Given the description of an element on the screen output the (x, y) to click on. 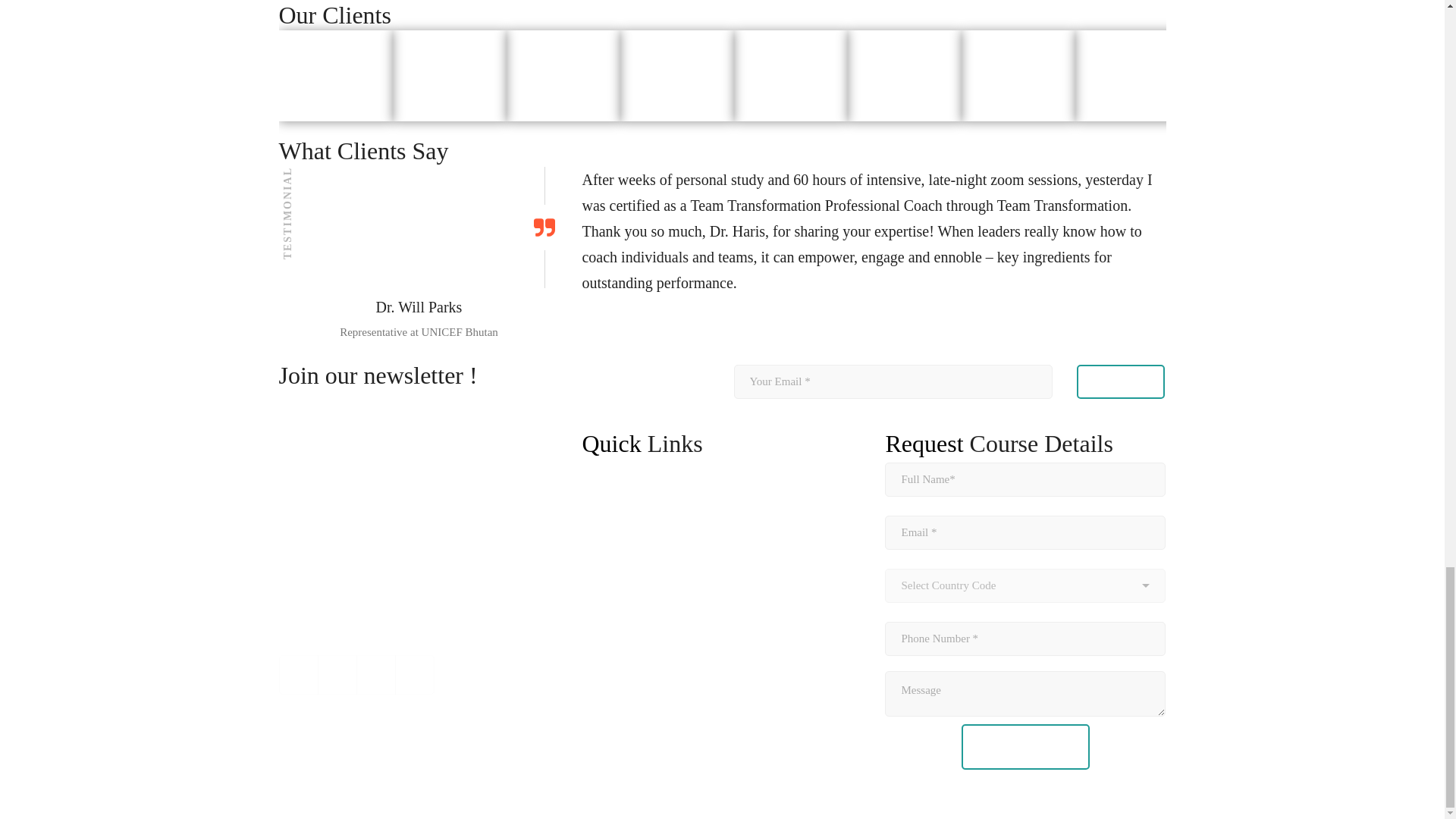
Send (1120, 381)
